Given the description of an element on the screen output the (x, y) to click on. 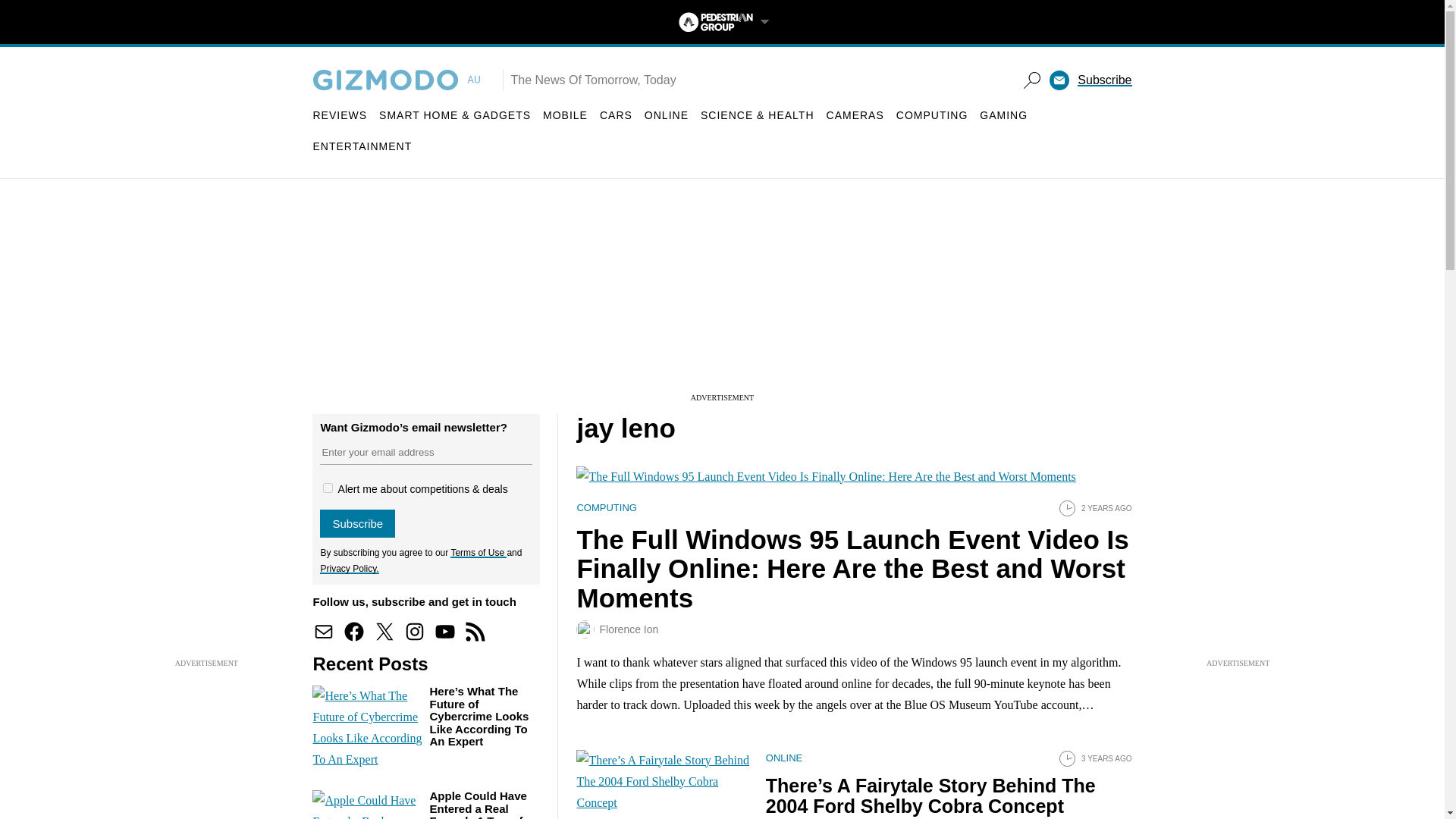
Subscribe (1104, 79)
ENTERTAINMENT (362, 145)
COMPUTING (932, 115)
CAMERAS (855, 115)
CARS (615, 115)
ONLINE (666, 115)
Subscribe (357, 523)
MOBILE (565, 115)
REVIEWS (339, 115)
GAMING (1003, 115)
